Given the description of an element on the screen output the (x, y) to click on. 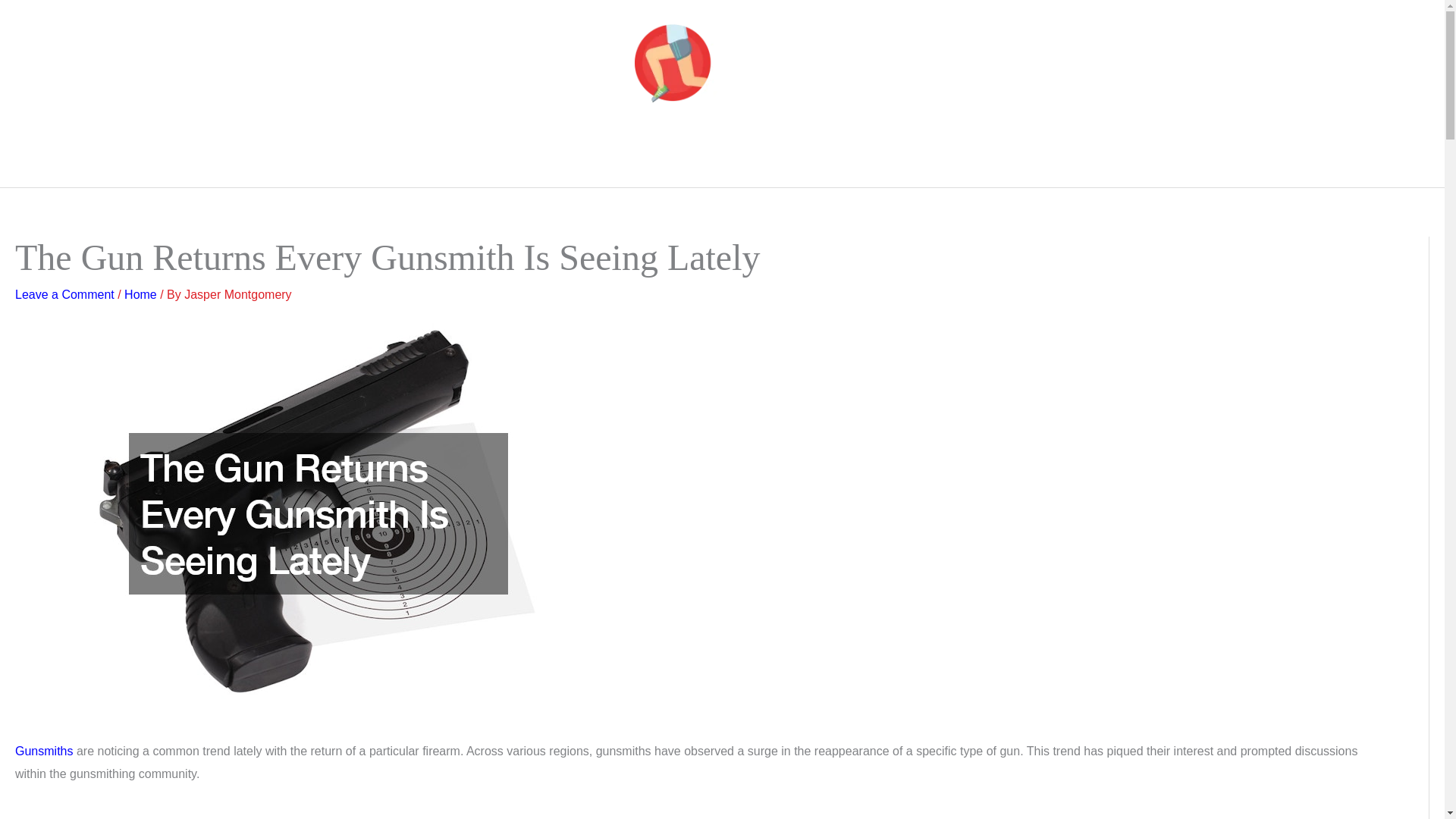
Travel and Adventure (953, 150)
Jasper Montgomery (237, 294)
Gunsmiths (43, 750)
Leave a Comment (64, 294)
Outdoor Leisure (559, 150)
View all posts by Jasper Montgomery (237, 294)
Home (140, 294)
Search (1040, 150)
Outdoor Sports (445, 150)
Gear and Equipment (689, 150)
